Given the description of an element on the screen output the (x, y) to click on. 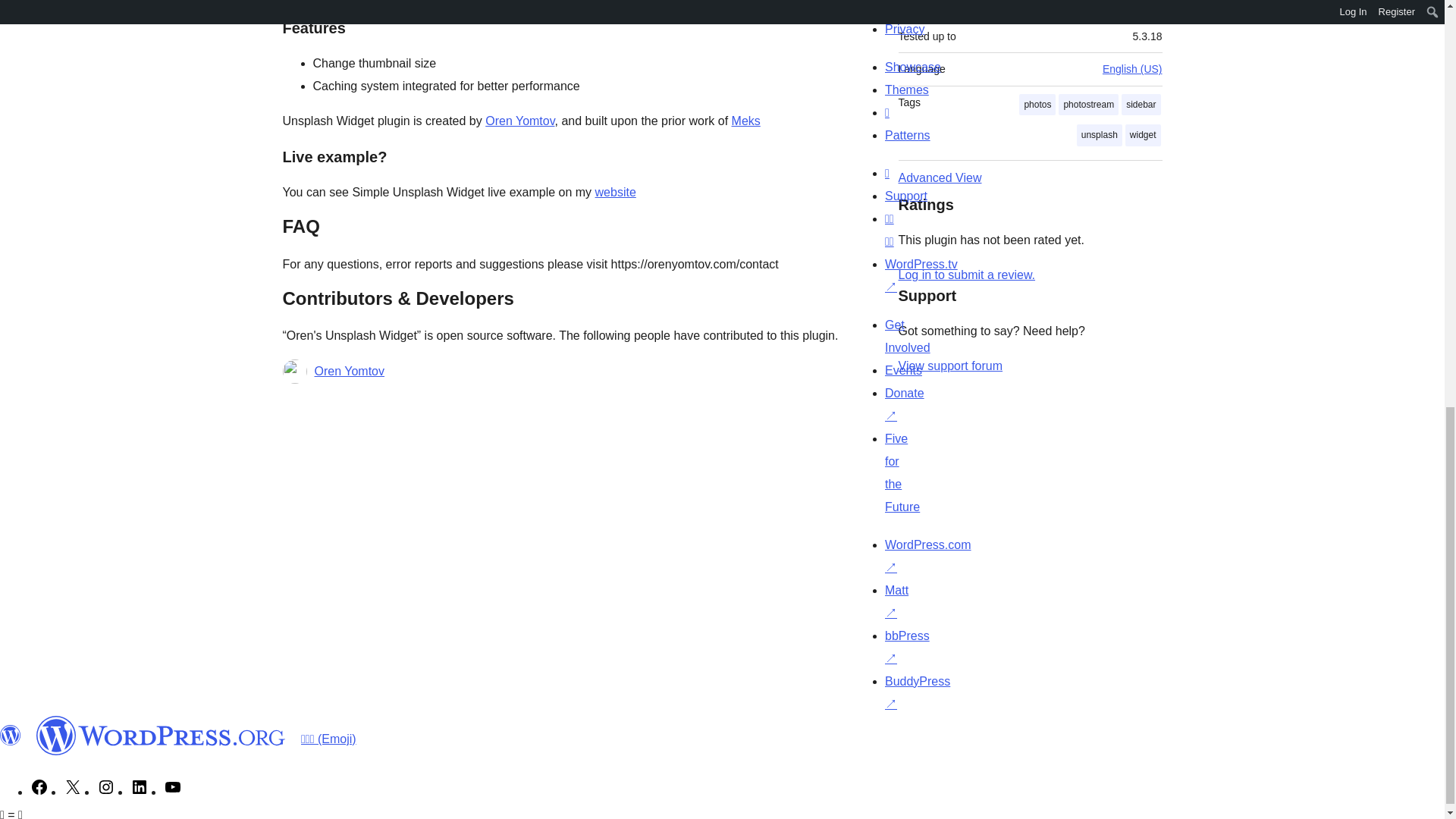
Meks (746, 120)
Log in to WordPress.org (966, 274)
Oren Yomtov (349, 371)
Oren Yomtov (519, 120)
WordPress.org (160, 735)
website (615, 192)
WordPress.org (10, 735)
